Given the description of an element on the screen output the (x, y) to click on. 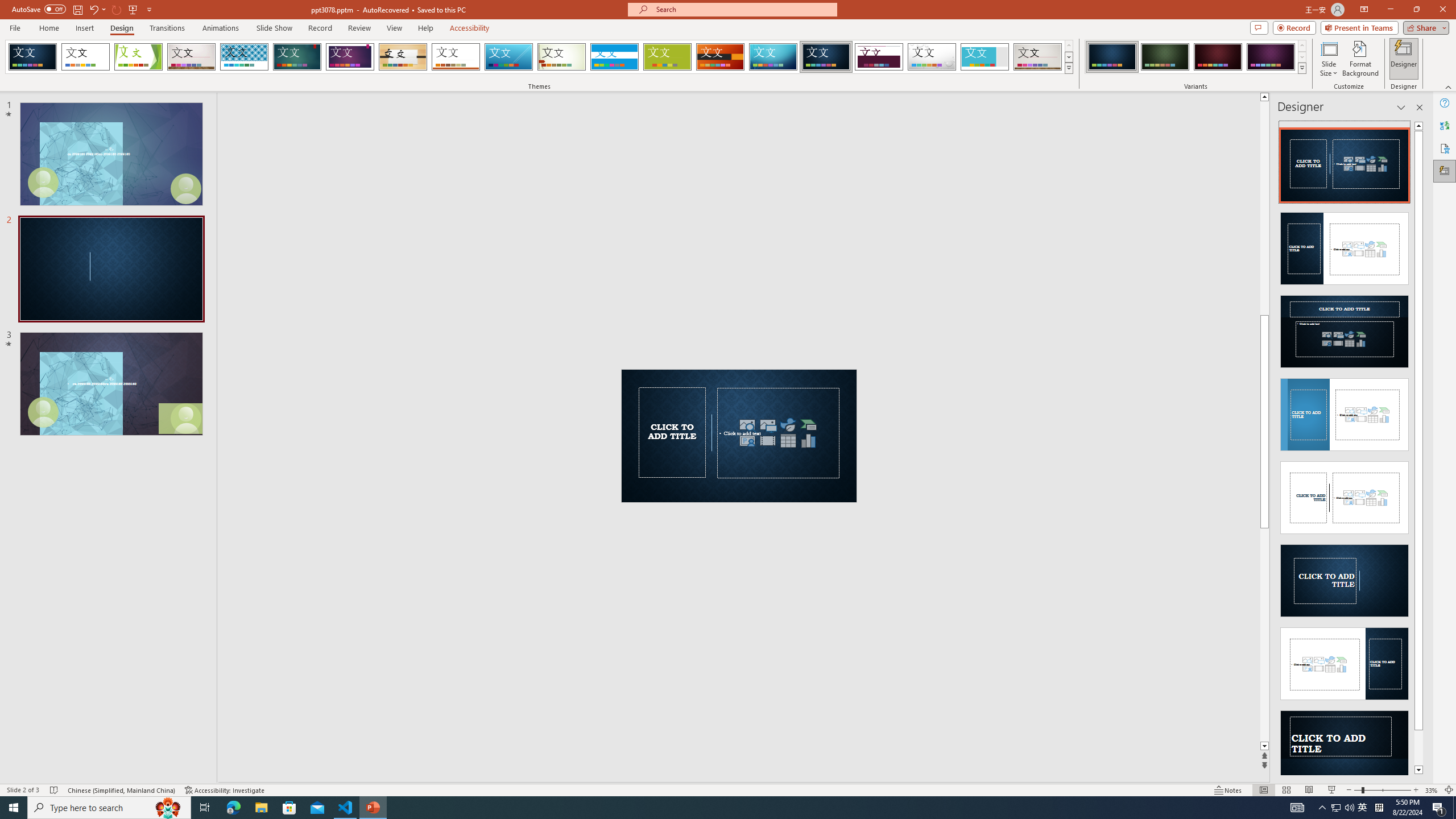
Zoom 33% (1431, 790)
Integral (244, 56)
Themes (1068, 67)
Insert Video (767, 440)
Variants (1301, 67)
Decorative Locked (738, 435)
Damask Variant 3 (1217, 56)
